Given the description of an element on the screen output the (x, y) to click on. 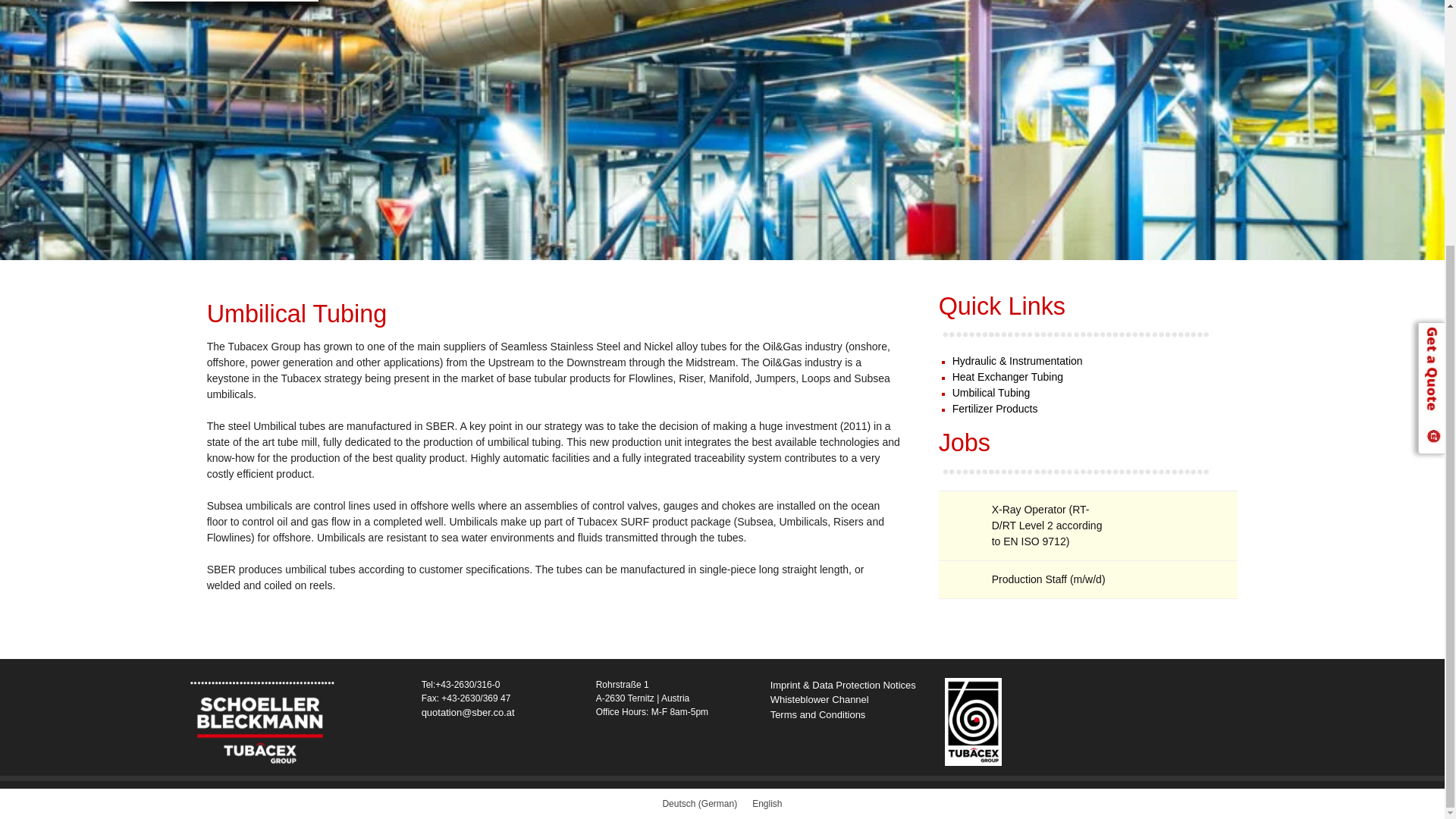
Umbilical Tubing (991, 392)
Heat Exchanger Tubing (1007, 377)
Whisteblower Channel (819, 699)
English (766, 803)
Fertilizer Products (995, 408)
Terms and Conditions (818, 714)
